Given the description of an element on the screen output the (x, y) to click on. 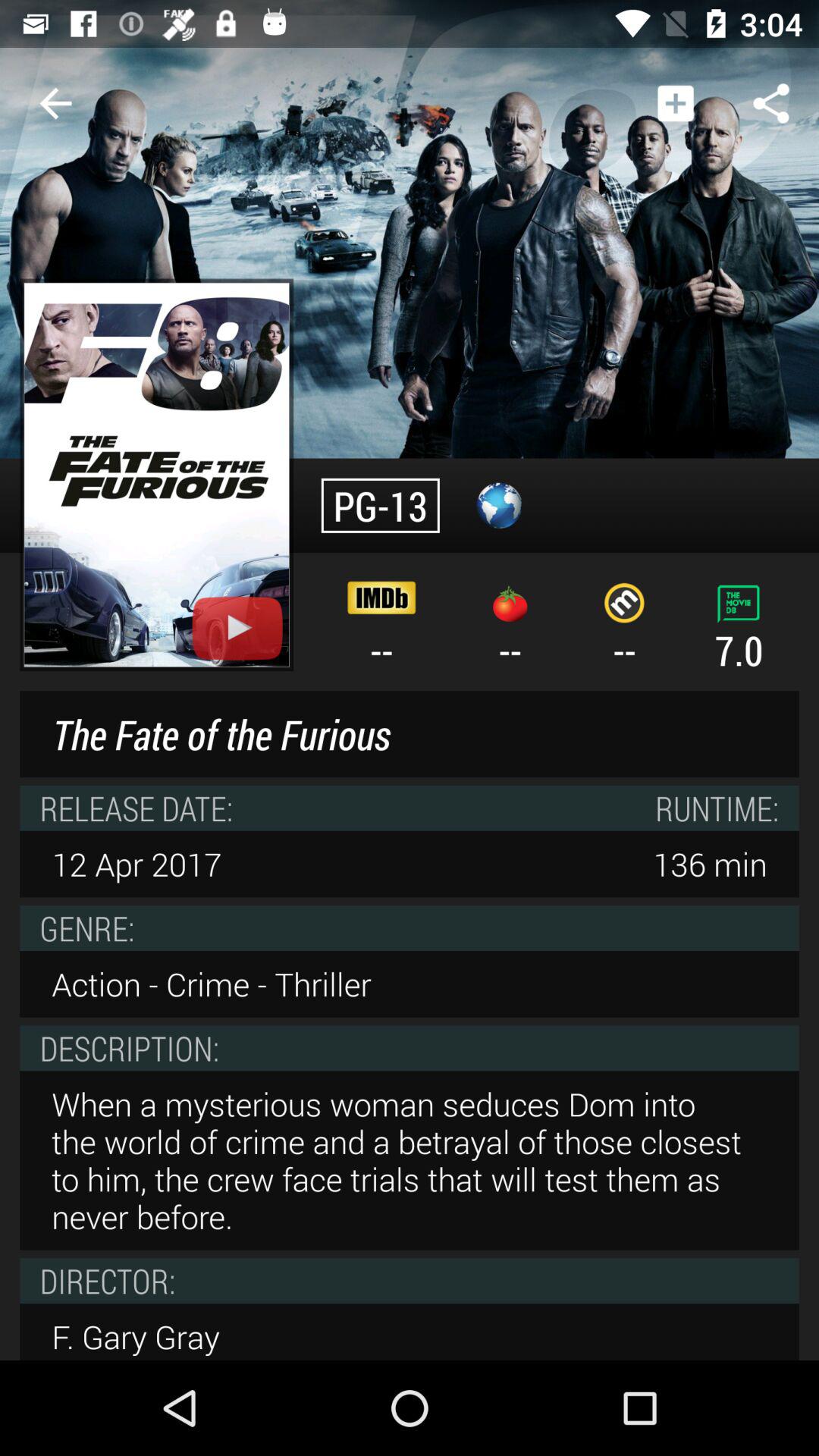
select poster (156, 474)
